Given the description of an element on the screen output the (x, y) to click on. 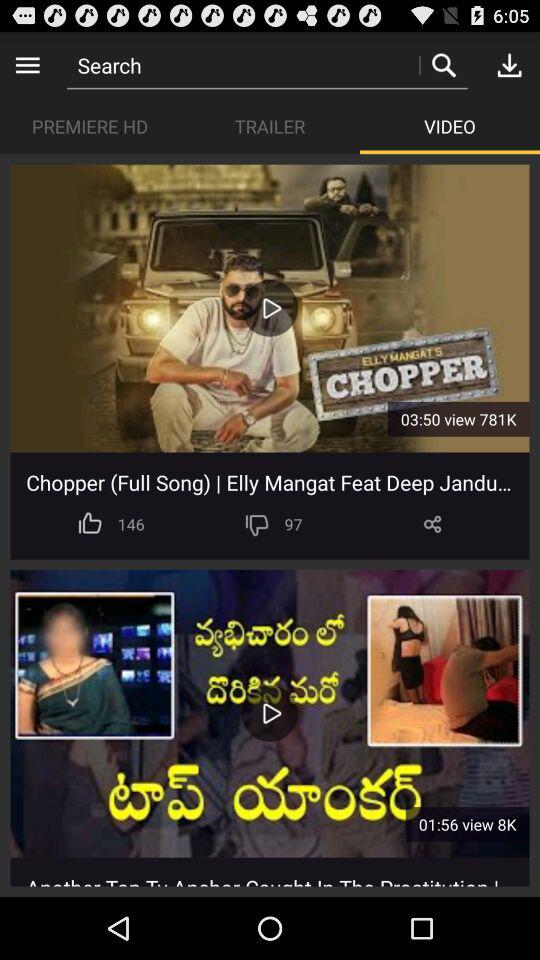
open the menu (27, 64)
